Given the description of an element on the screen output the (x, y) to click on. 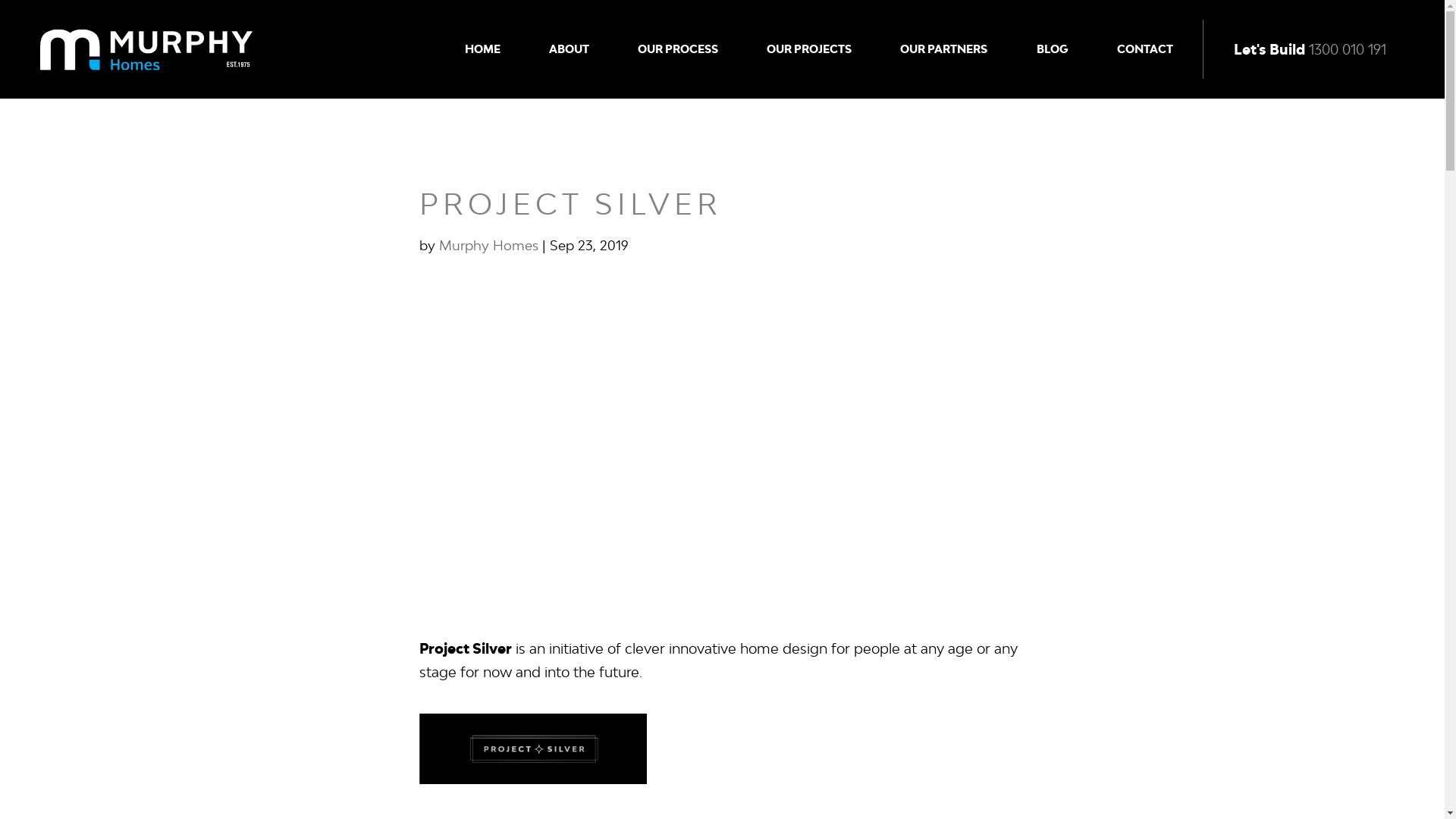
OUR PROCESS Element type: text (677, 49)
CONTACT Element type: text (1145, 49)
HOME Element type: text (481, 49)
BLOG Element type: text (1052, 49)
Murphy Homes Element type: text (487, 245)
OUR PARTNERS Element type: text (943, 49)
Project Silver Element type: hover (721, 443)
ABOUT Element type: text (569, 49)
OUR PROJECTS Element type: text (808, 49)
1300 010 191 Element type: text (1347, 48)
